Given the description of an element on the screen output the (x, y) to click on. 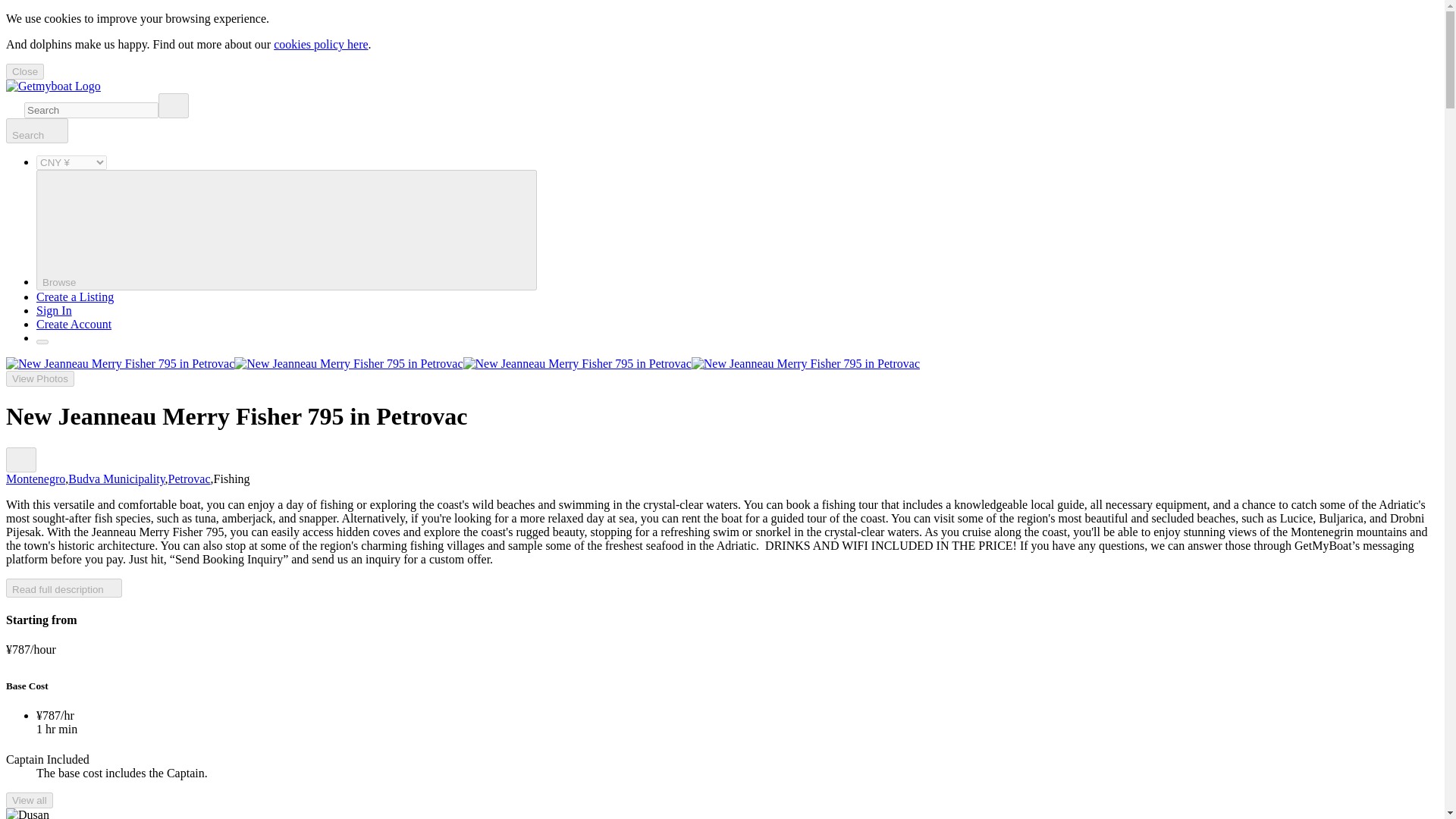
Close (24, 71)
Read full description (63, 587)
Petrovac (189, 478)
cookies policy here (320, 43)
Browse (286, 229)
Create Account (74, 323)
Sign In (53, 309)
Budva Municipality (116, 478)
Montenegro (35, 478)
Clear (173, 105)
View all (28, 800)
Search (36, 130)
View Photos (39, 378)
Create a Listing (74, 296)
